Given the description of an element on the screen output the (x, y) to click on. 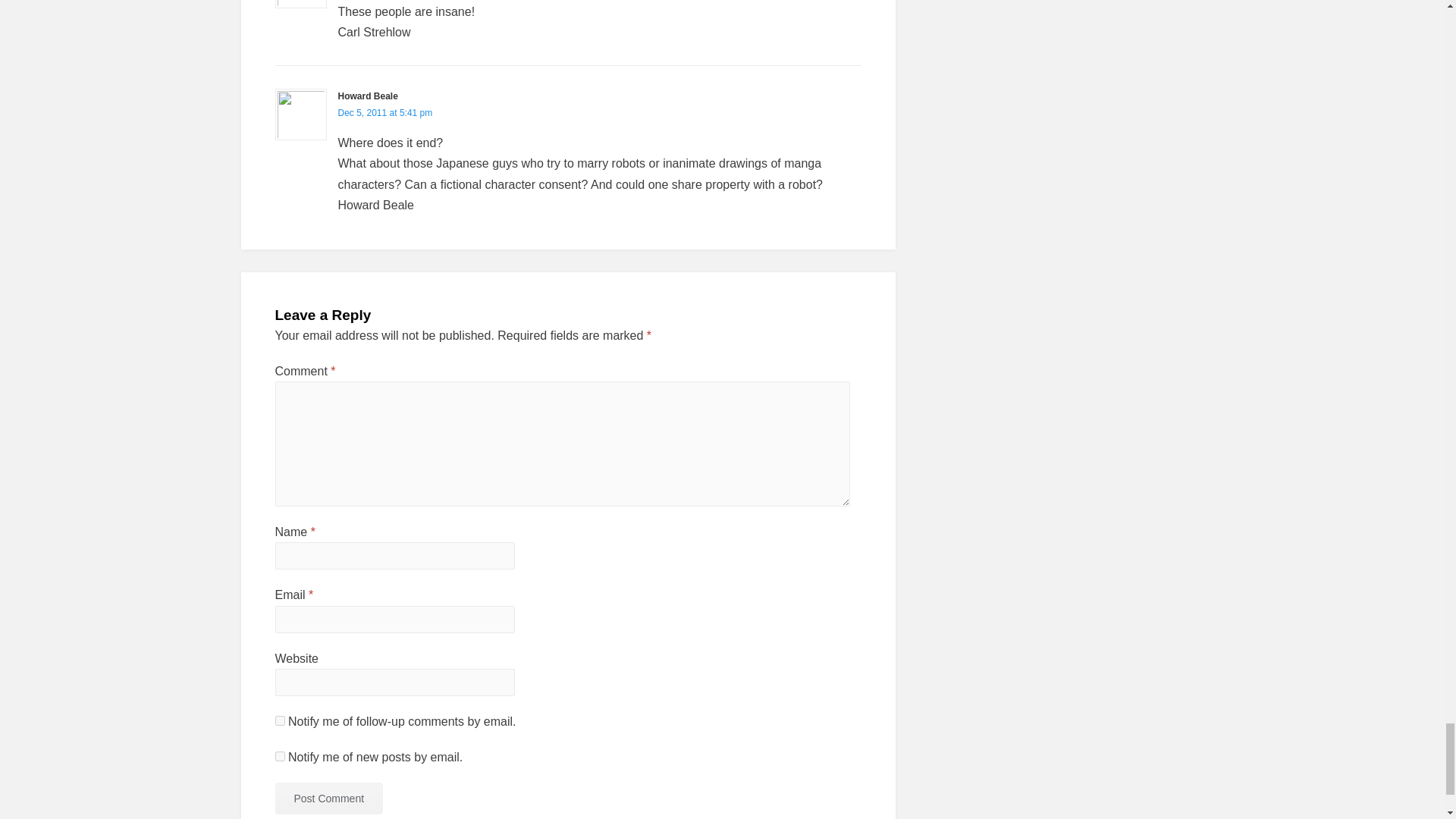
subscribe (279, 756)
subscribe (279, 720)
Post Comment (328, 798)
